Given the description of an element on the screen output the (x, y) to click on. 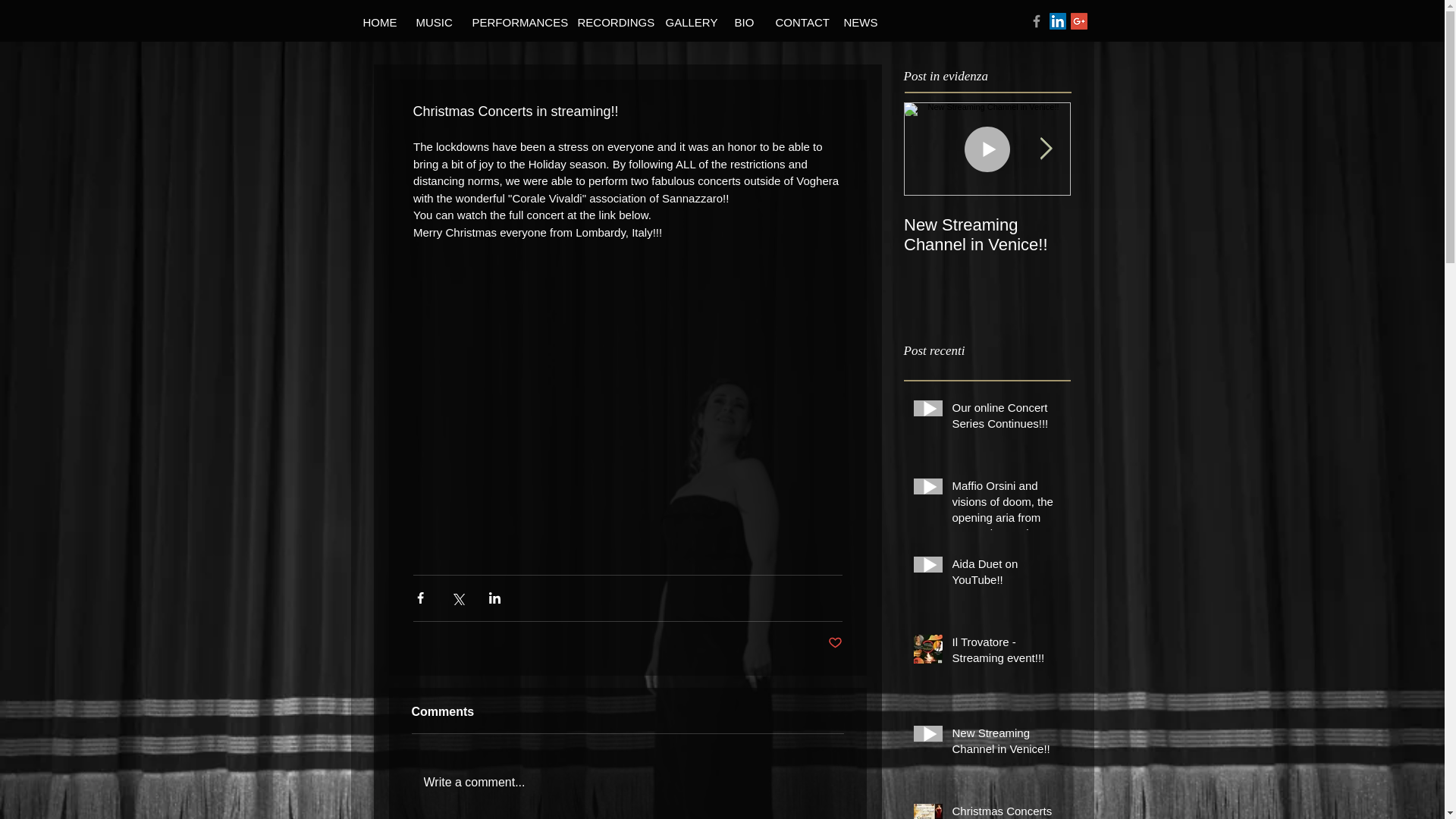
Post not marked as liked (835, 643)
MUSIC (431, 22)
PERFORMANCES (512, 22)
RECORDINGS (609, 22)
Wonderful Debut as "Principessa d'Eboli!!! (1321, 234)
GALLERY (687, 22)
HOME (376, 22)
New Streaming Channel in Venice!! (1006, 743)
Our online Concert Series Continues!!! (1006, 418)
ricos-video (626, 333)
CONTACT (796, 22)
NEWS (858, 22)
BIO (742, 22)
Aida Duet on YouTube!! (1006, 574)
